Given the description of an element on the screen output the (x, y) to click on. 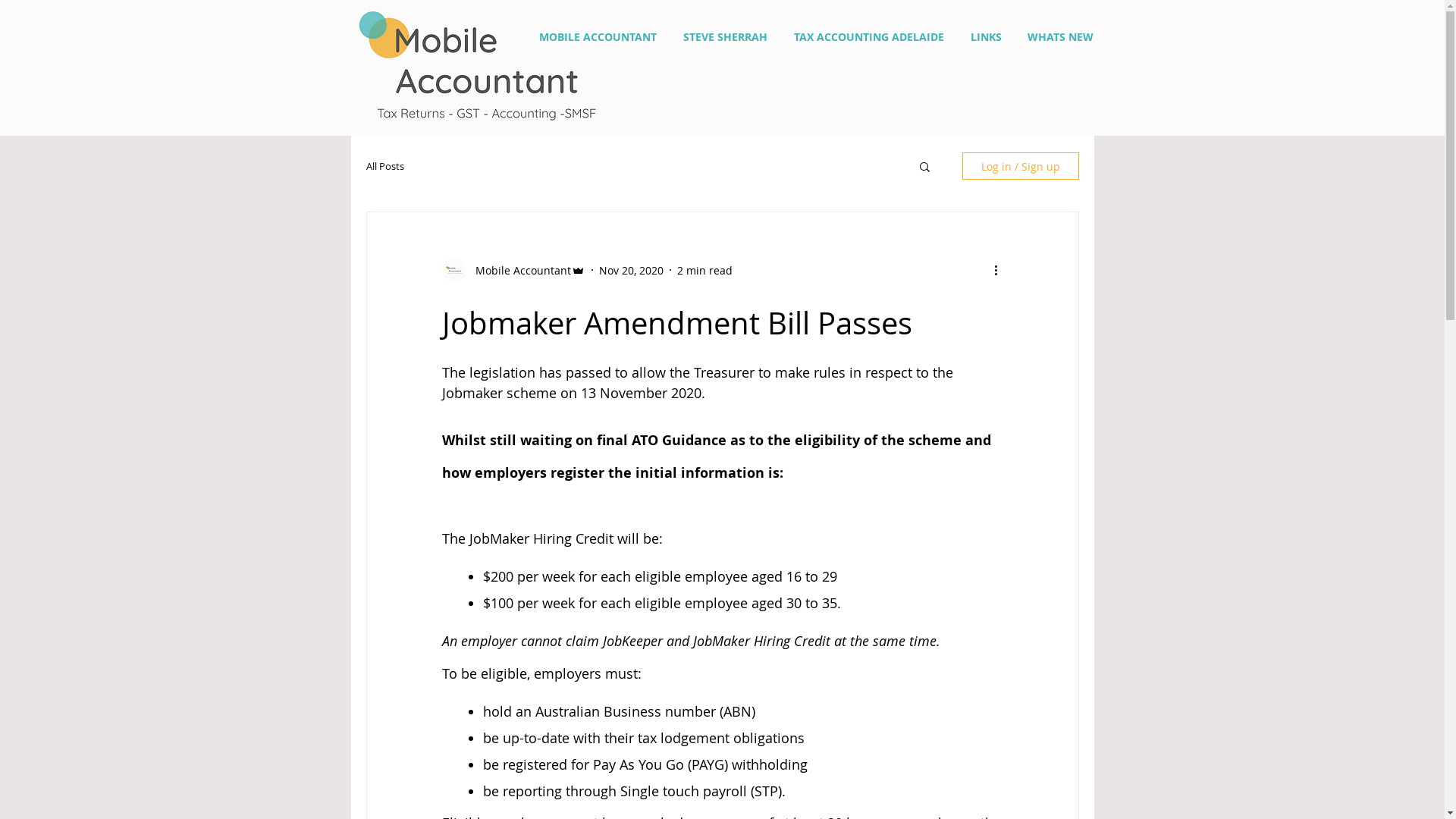
LINKS Element type: text (985, 36)
TAX ACCOUNTING ADELAIDE Element type: text (869, 36)
WHATS NEW Element type: text (1060, 36)
MOBILE ACCOUNTANT Element type: text (598, 36)
All Posts Element type: text (384, 165)
STEVE SHERRAH Element type: text (725, 36)
Log in / Sign up Element type: text (1019, 165)
